Given the description of an element on the screen output the (x, y) to click on. 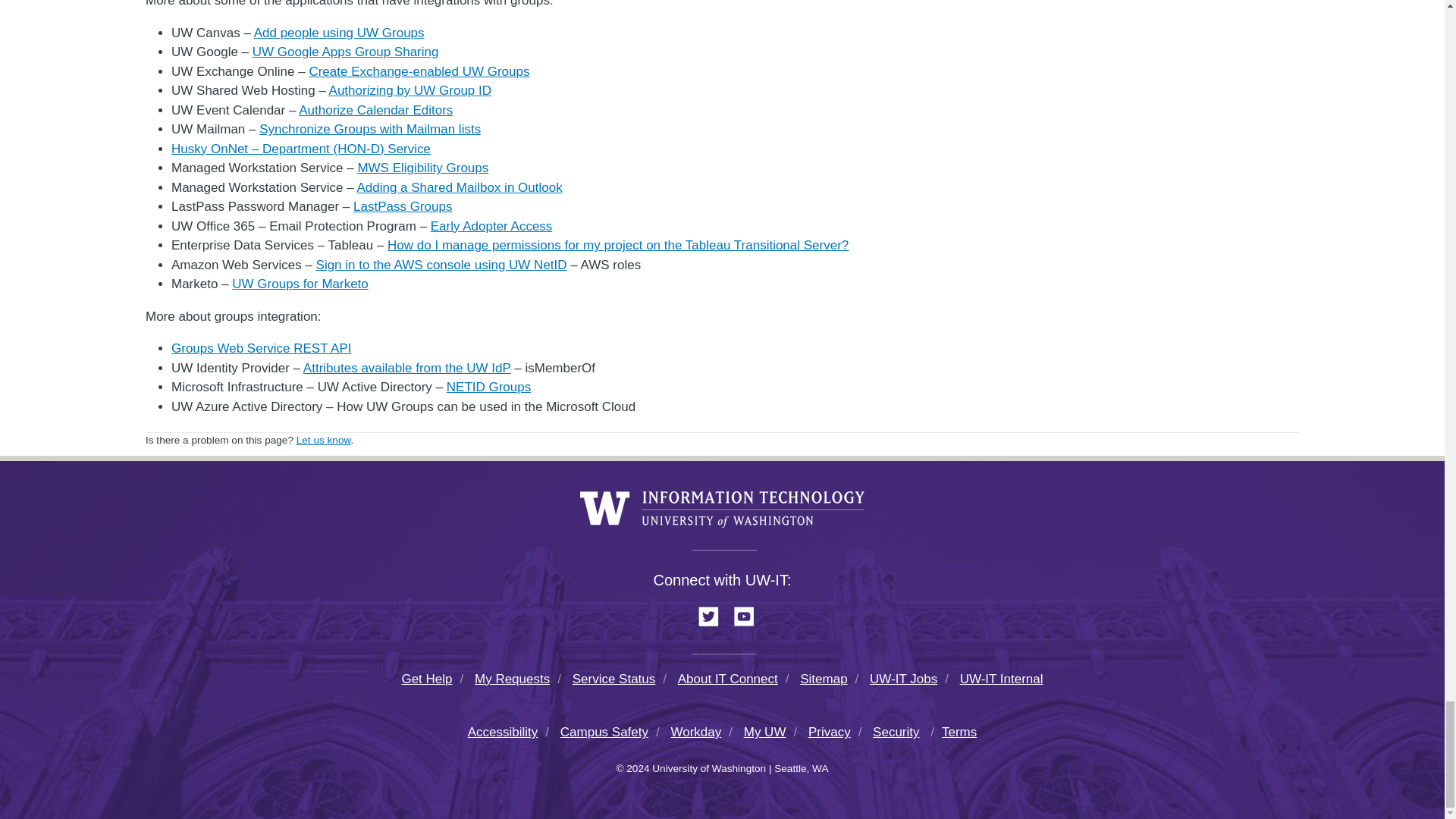
Restricting Access (410, 90)
